Given the description of an element on the screen output the (x, y) to click on. 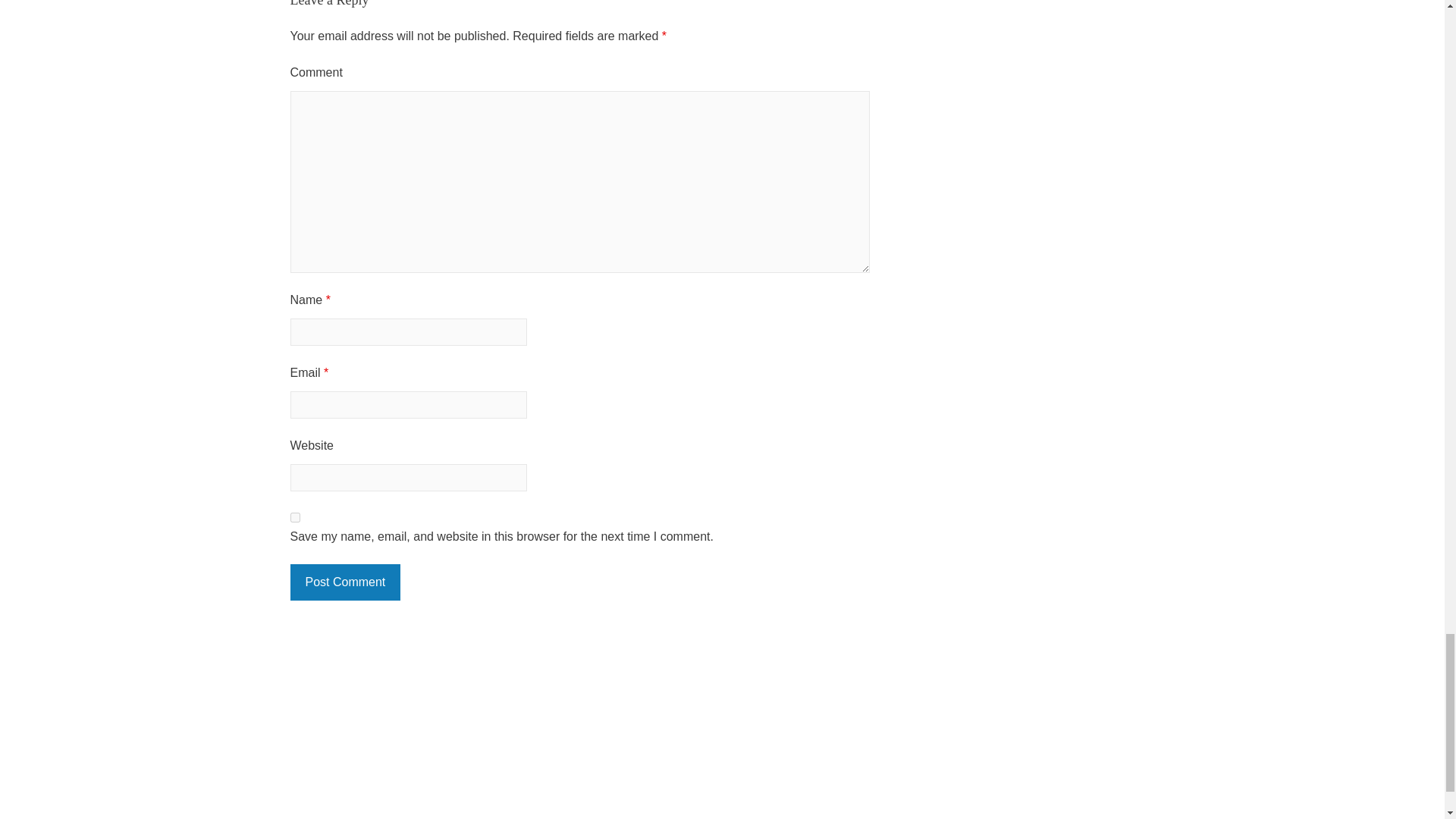
yes (294, 517)
Post Comment (344, 582)
